Given the description of an element on the screen output the (x, y) to click on. 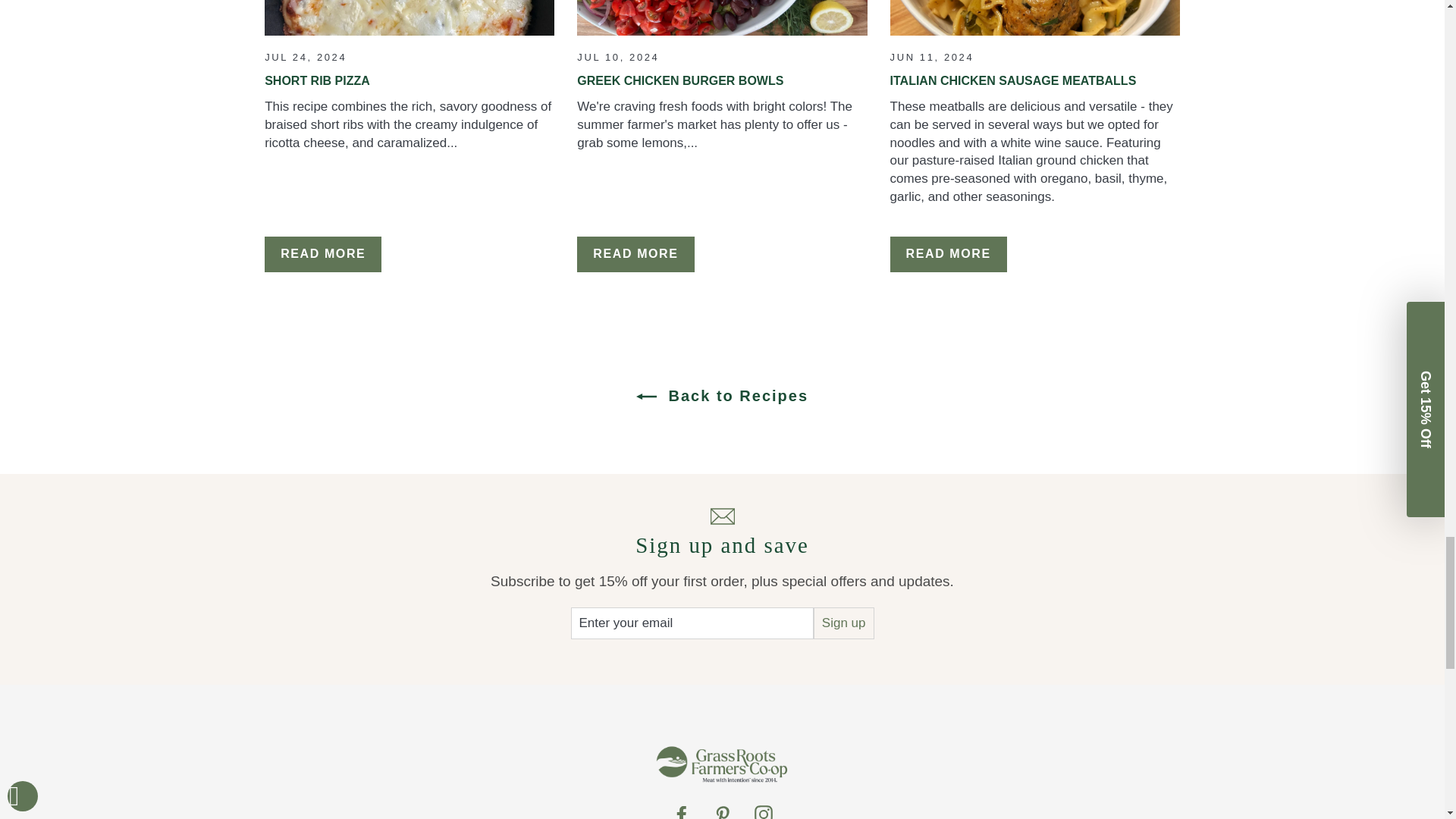
Sign up (844, 623)
Grass Roots Farmers' Cooperative on Instagram (762, 811)
Grass Roots Farmers' Cooperative on Pinterest (721, 811)
Grass Roots Farmers' Cooperative on Facebook (680, 811)
